Given the description of an element on the screen output the (x, y) to click on. 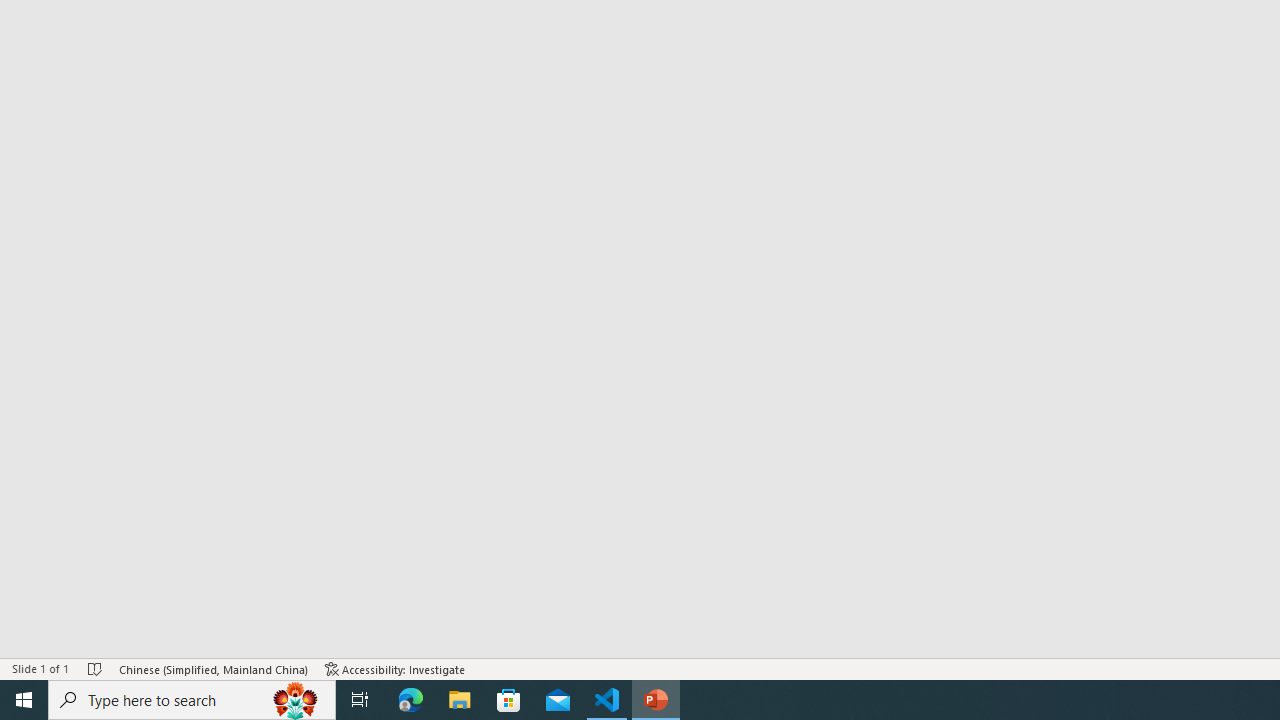
Accessibility Checker Accessibility: Investigate (395, 668)
